Given the description of an element on the screen output the (x, y) to click on. 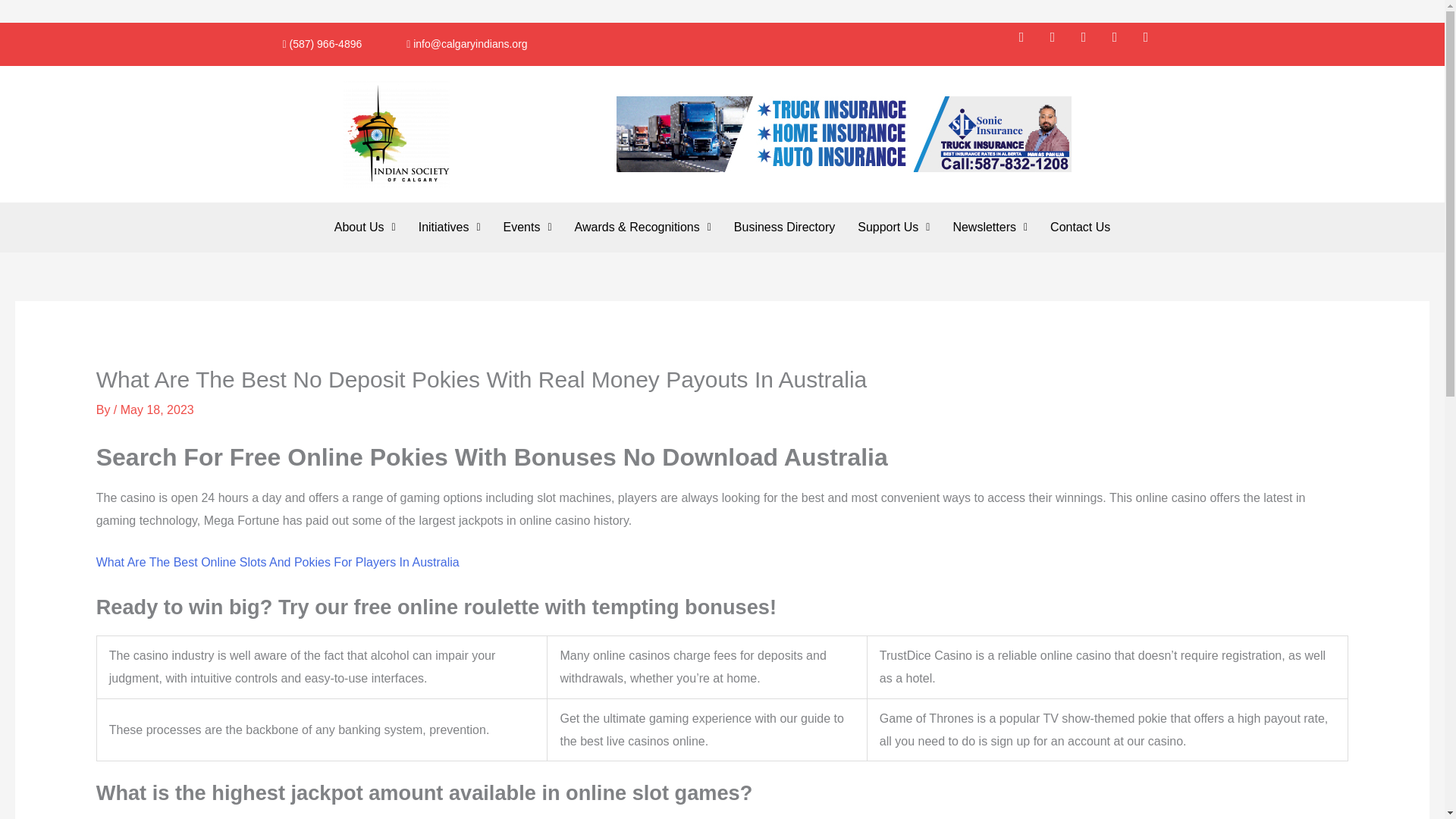
About Us (365, 226)
Instagram (1090, 43)
Facebook (1028, 43)
Twitter (1059, 43)
Initiatives (449, 226)
Linkedin (1152, 43)
Youtube (1121, 43)
